Given the description of an element on the screen output the (x, y) to click on. 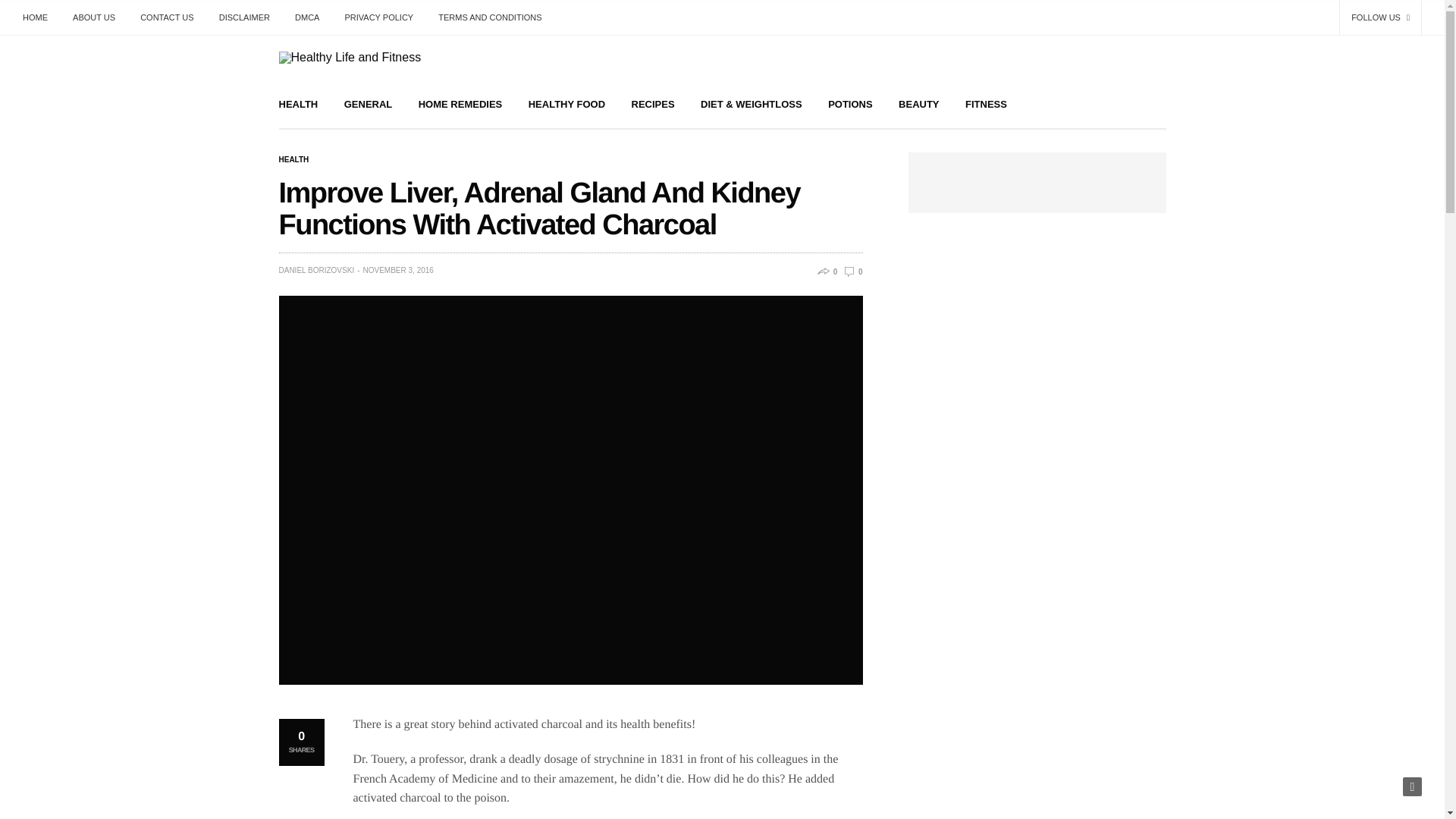
HEALTHY FOOD (566, 103)
POTIONS (850, 103)
FOLLOW US (1380, 17)
FITNESS (986, 103)
RECIPES (653, 103)
BEAUTY (918, 103)
ABOUT US (93, 17)
DMCA (306, 17)
PRIVACY POLICY (379, 17)
DISCLAIMER (244, 17)
Health (293, 159)
Posts by Daniel Borizovski (317, 270)
HOME REMEDIES (460, 103)
TERMS AND CONDITIONS (489, 17)
